Given the description of an element on the screen output the (x, y) to click on. 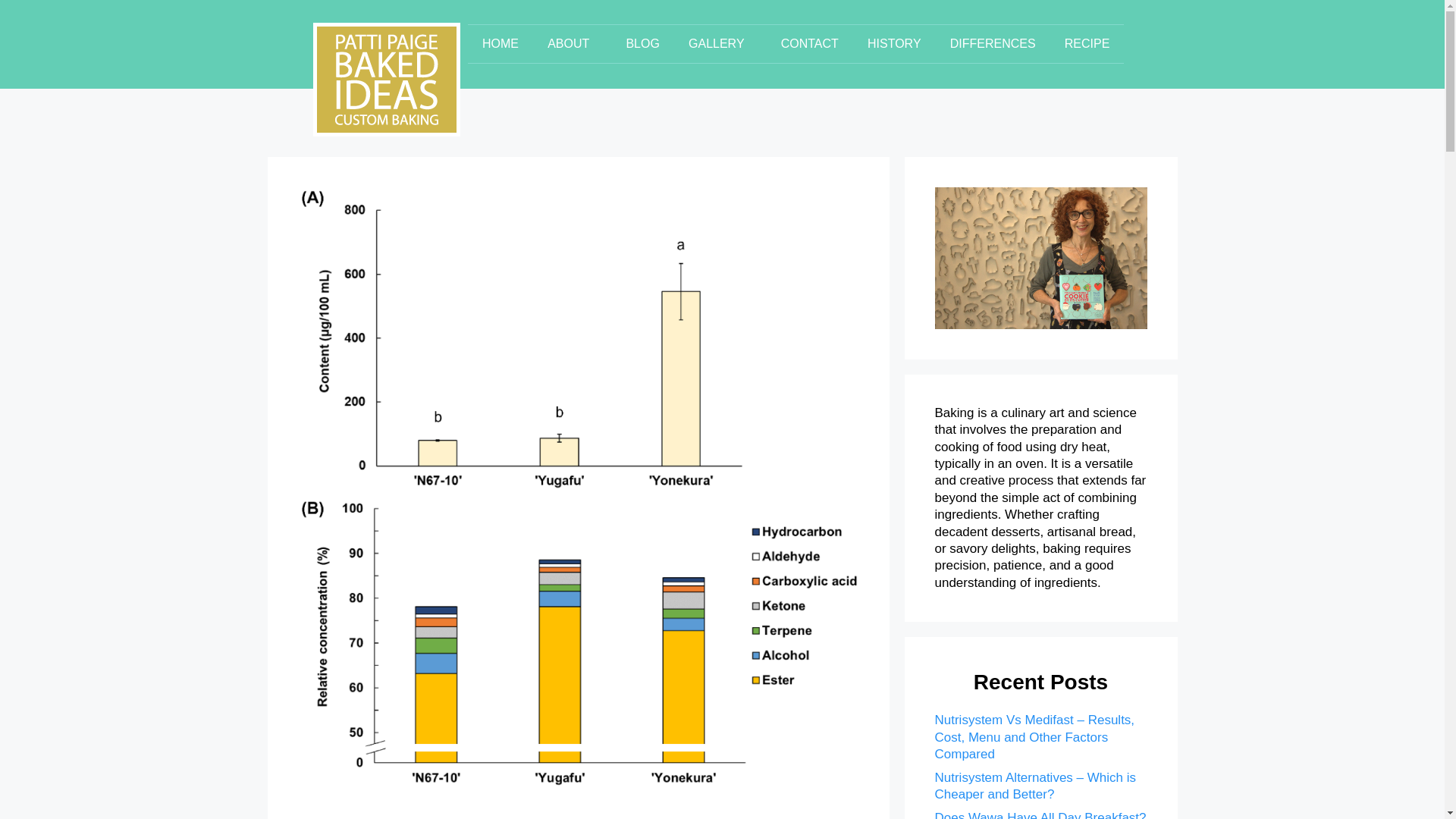
CONTACT (810, 43)
BLOG (642, 43)
DIFFERENCES (992, 43)
GALLERY (720, 43)
HOME (499, 43)
HISTORY (894, 43)
ABOUT (571, 43)
RECIPE (1086, 43)
